Given the description of an element on the screen output the (x, y) to click on. 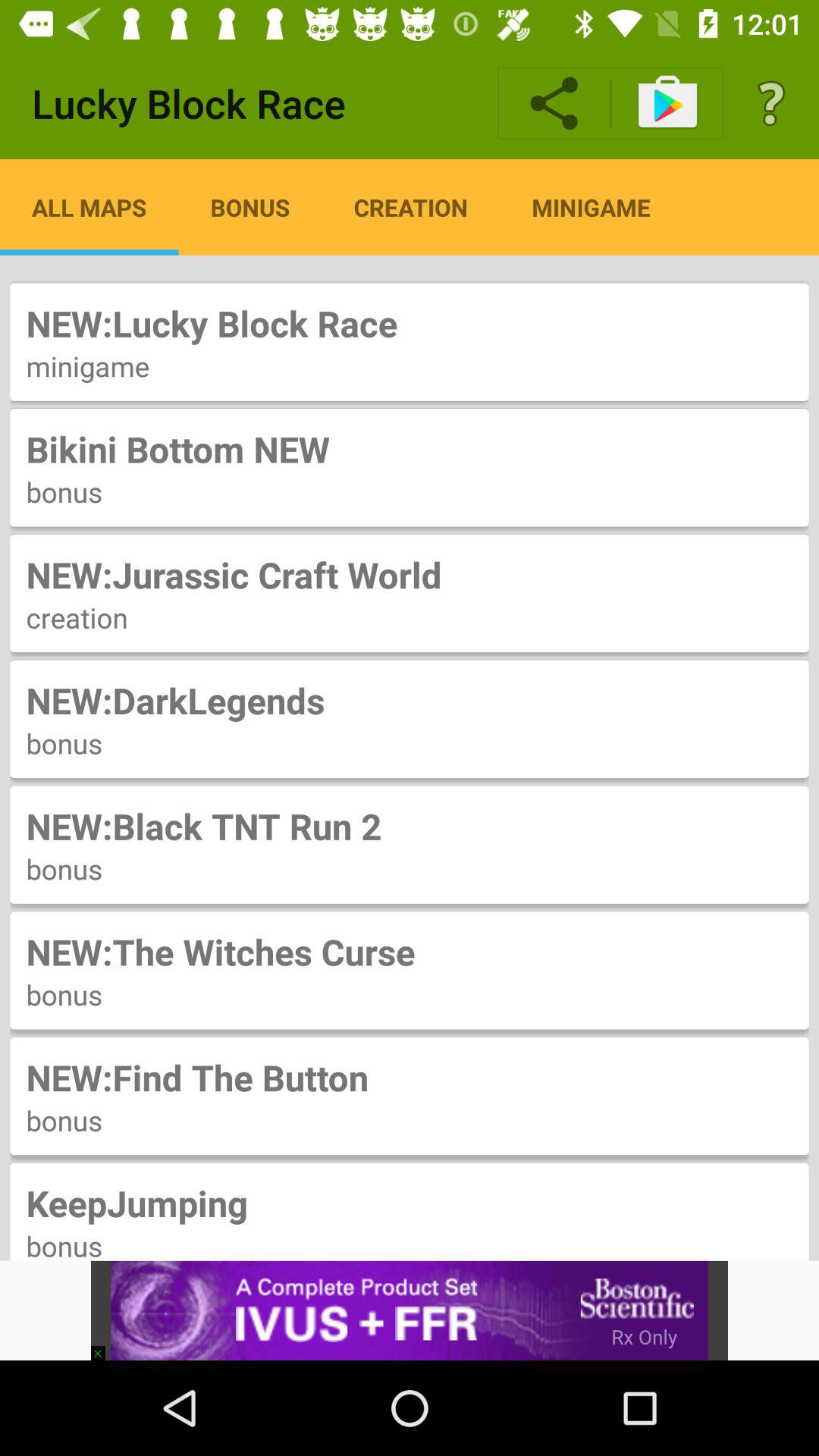
scroll to the keepjumping (409, 1203)
